Given the description of an element on the screen output the (x, y) to click on. 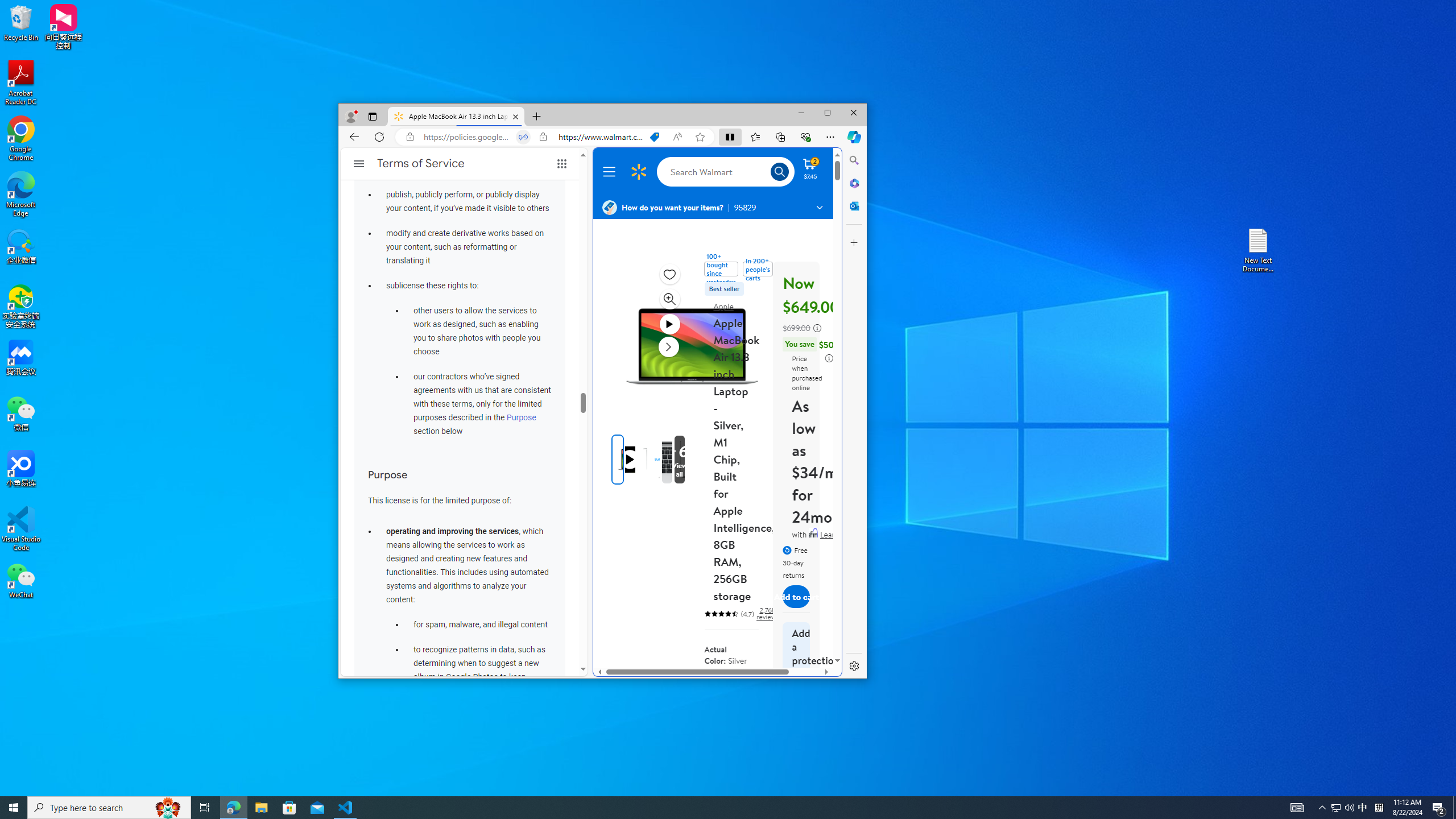
legal information (829, 357)
Task View (204, 807)
Show desktop (1454, 807)
View all media (698, 459)
Silver selected, Silver, $649.00 (744, 692)
Q2790: 100% (1349, 807)
Visual Studio Code - 1 running window (345, 807)
Microsoft Edge - 1 running window (233, 807)
selected, Silver, $649.00 (744, 692)
